Given the description of an element on the screen output the (x, y) to click on. 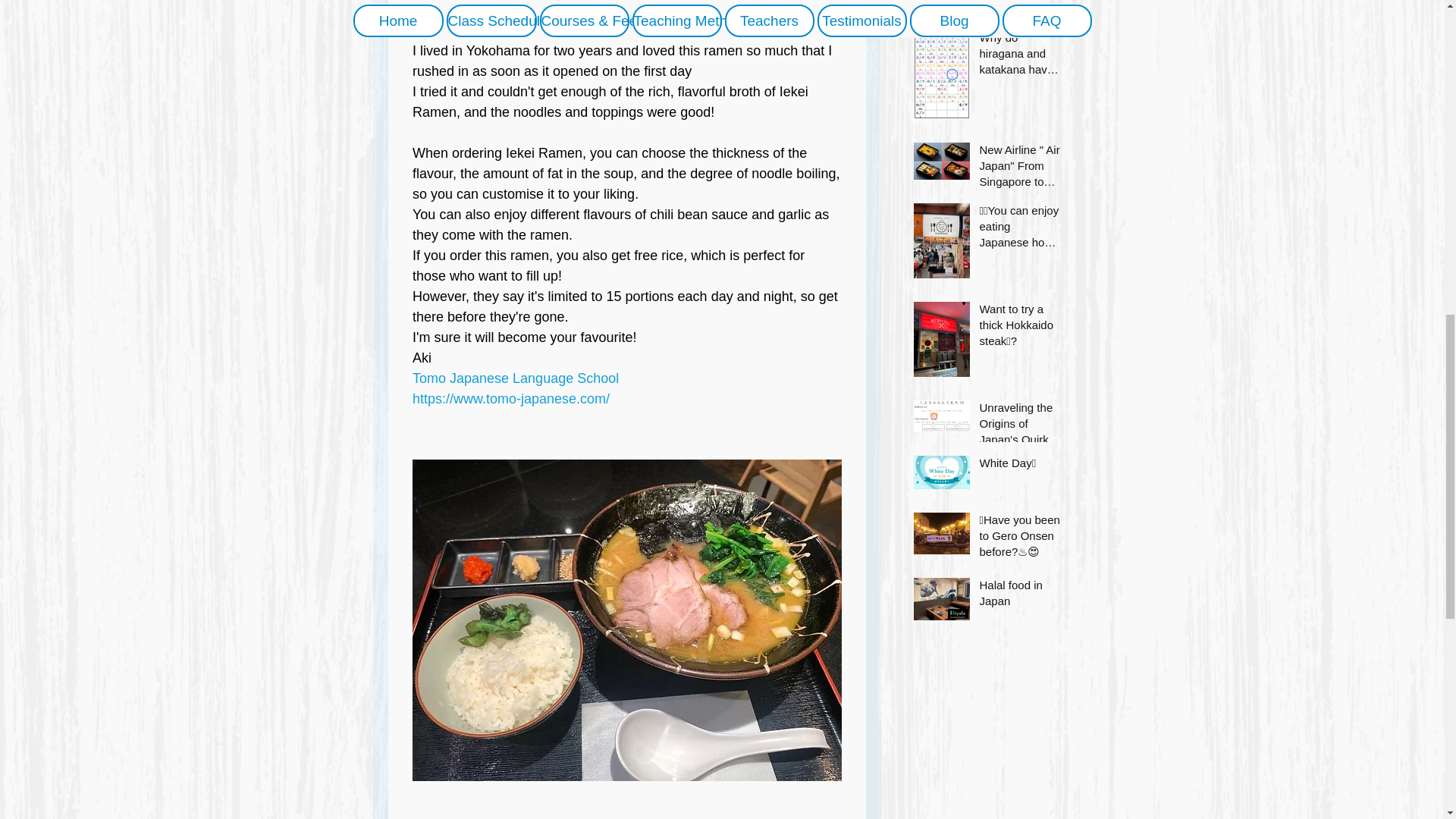
Halal food in Japan (1020, 596)
Tomo Japanese Language School (515, 378)
